Given the description of an element on the screen output the (x, y) to click on. 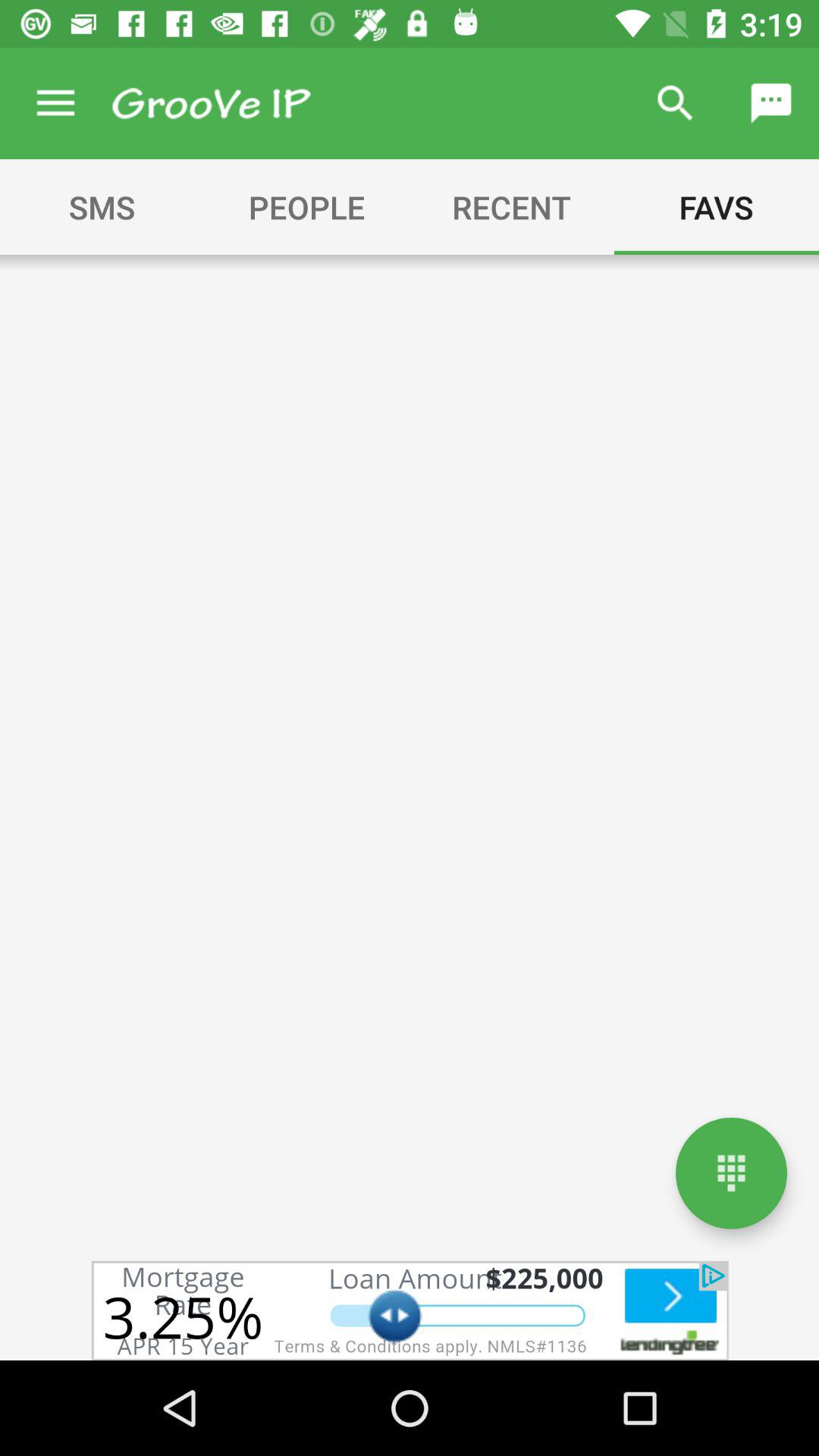
open dialer (731, 1173)
